Given the description of an element on the screen output the (x, y) to click on. 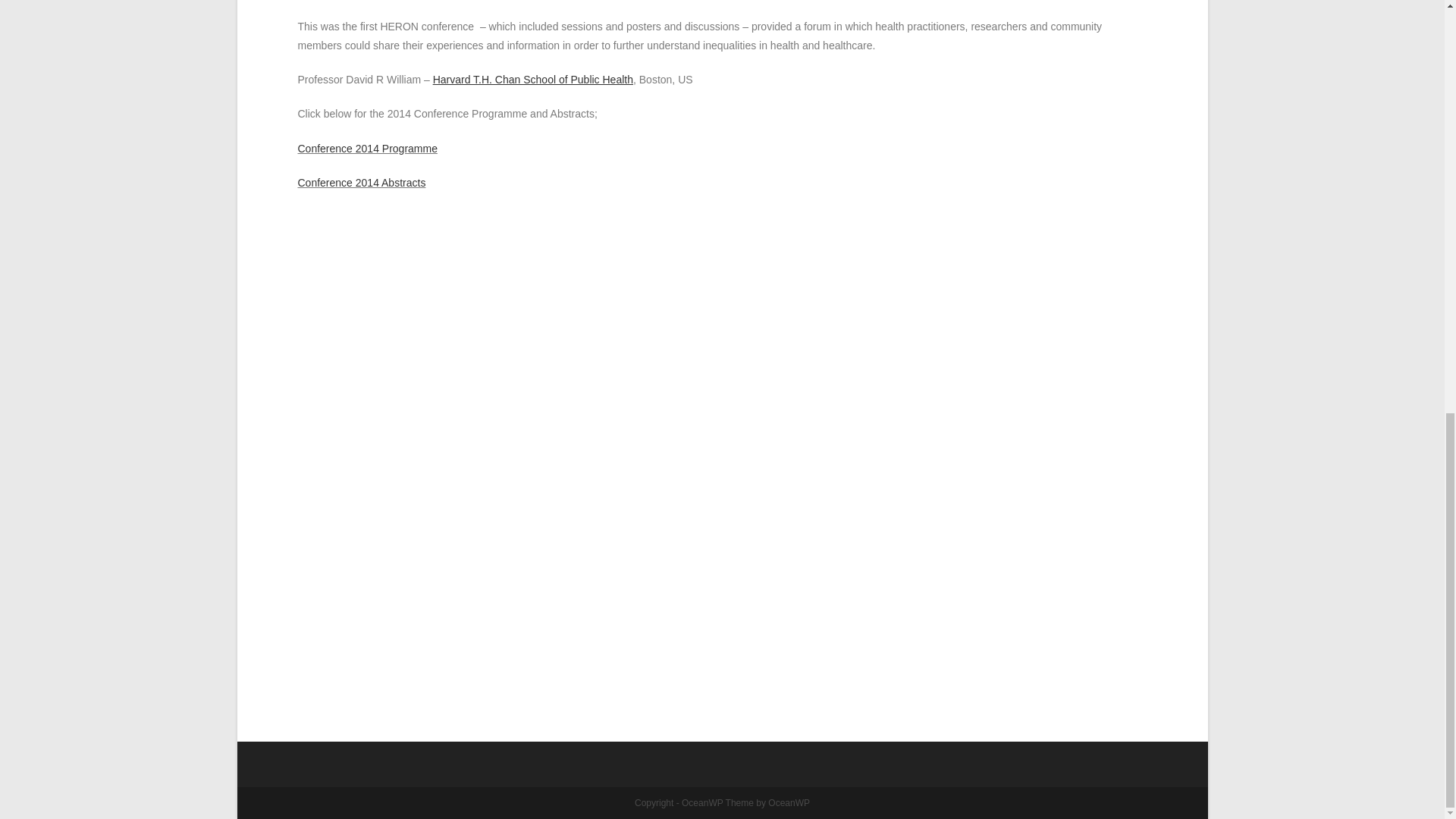
Harvard T.H. Chan School of Public Health (532, 79)
Conference 2014 Abstracts (361, 182)
Conference 2014 Programme (366, 148)
